Given the description of an element on the screen output the (x, y) to click on. 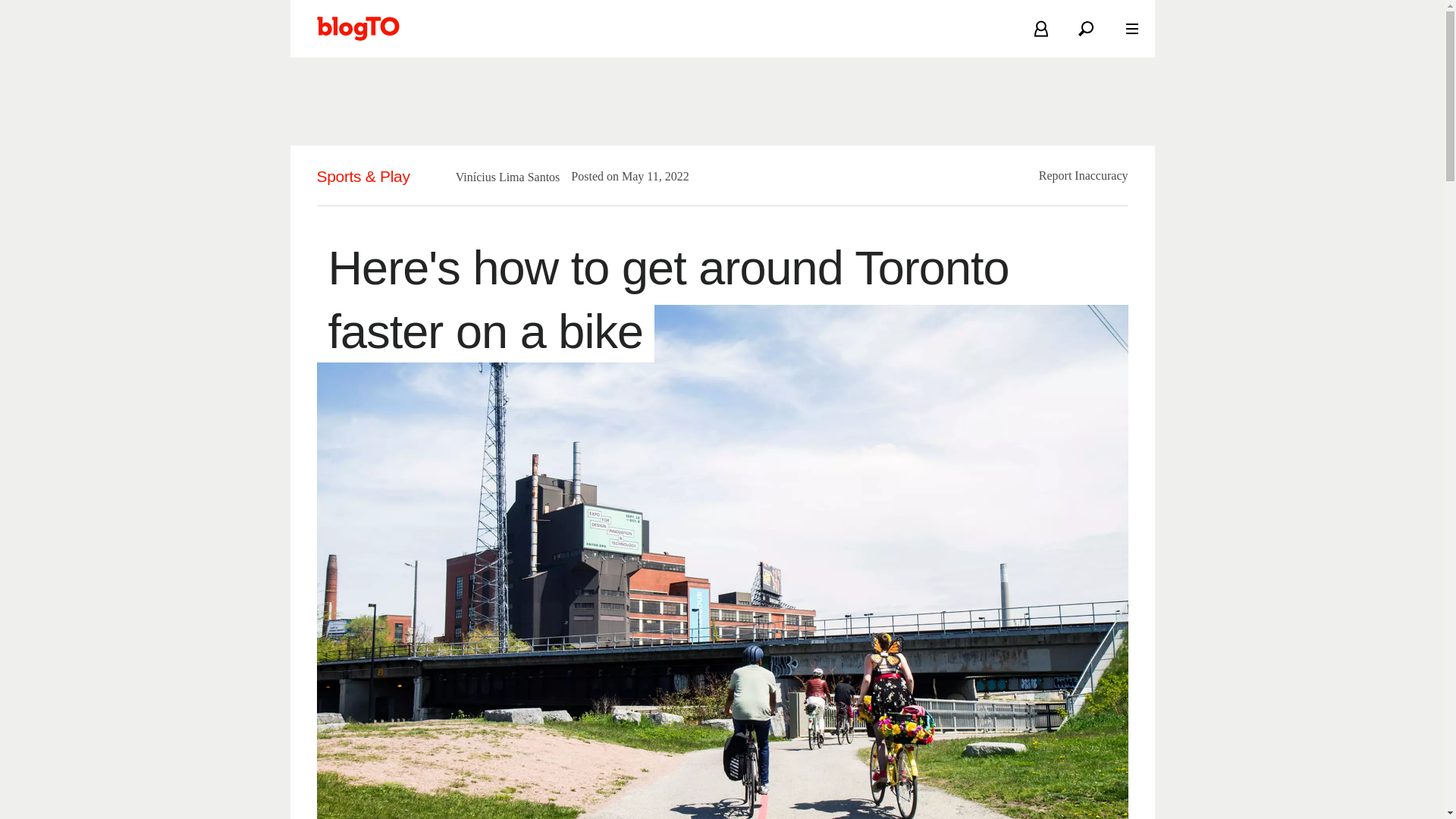
2022-05-11T18:12:54 (647, 175)
